Given the description of an element on the screen output the (x, y) to click on. 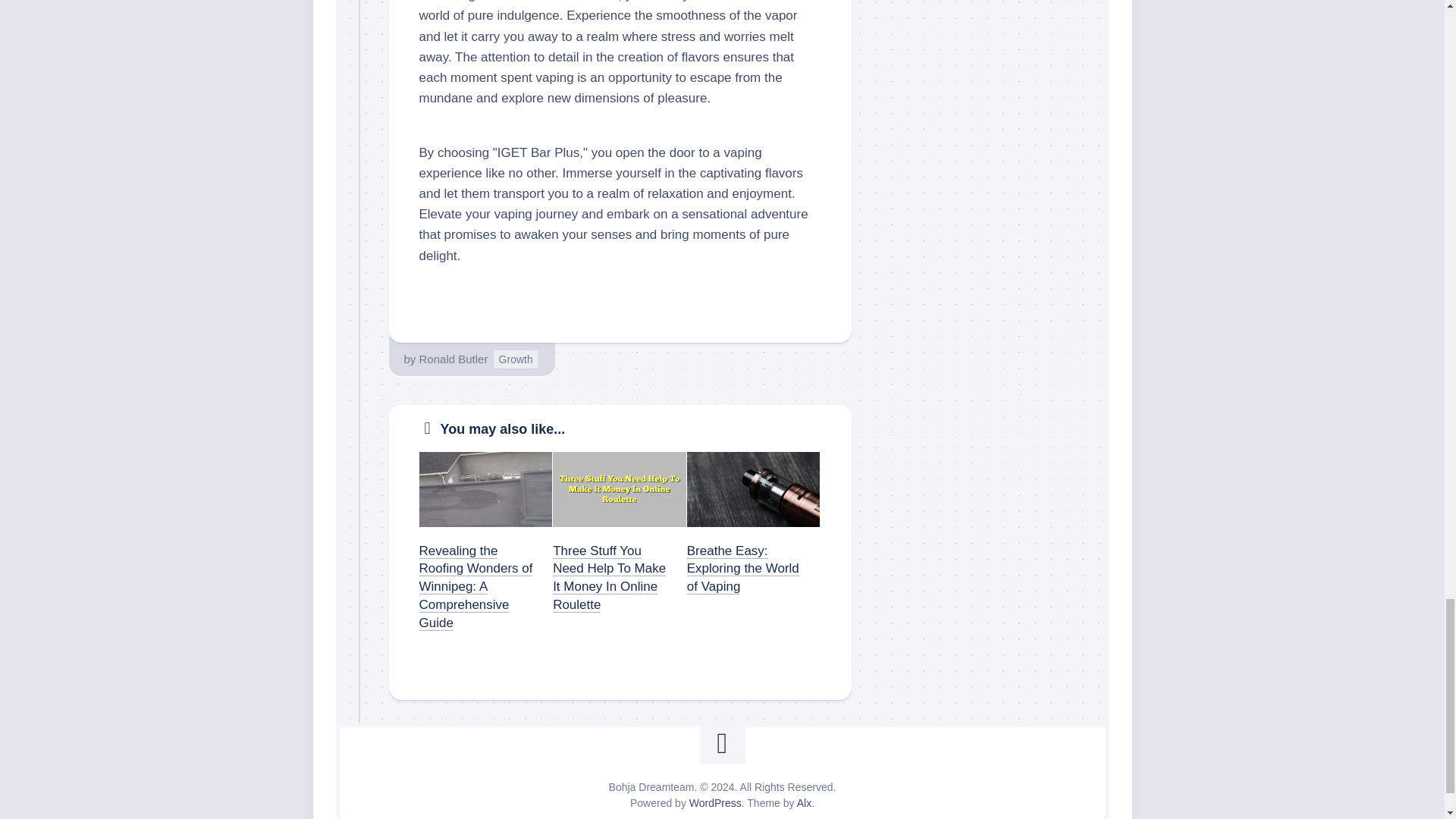
Growth (515, 359)
Alx (803, 802)
WordPress (714, 802)
Breathe Easy: Exploring the World of Vaping (743, 567)
Ronald Butler (453, 358)
Posts by Ronald Butler (453, 358)
